Given the description of an element on the screen output the (x, y) to click on. 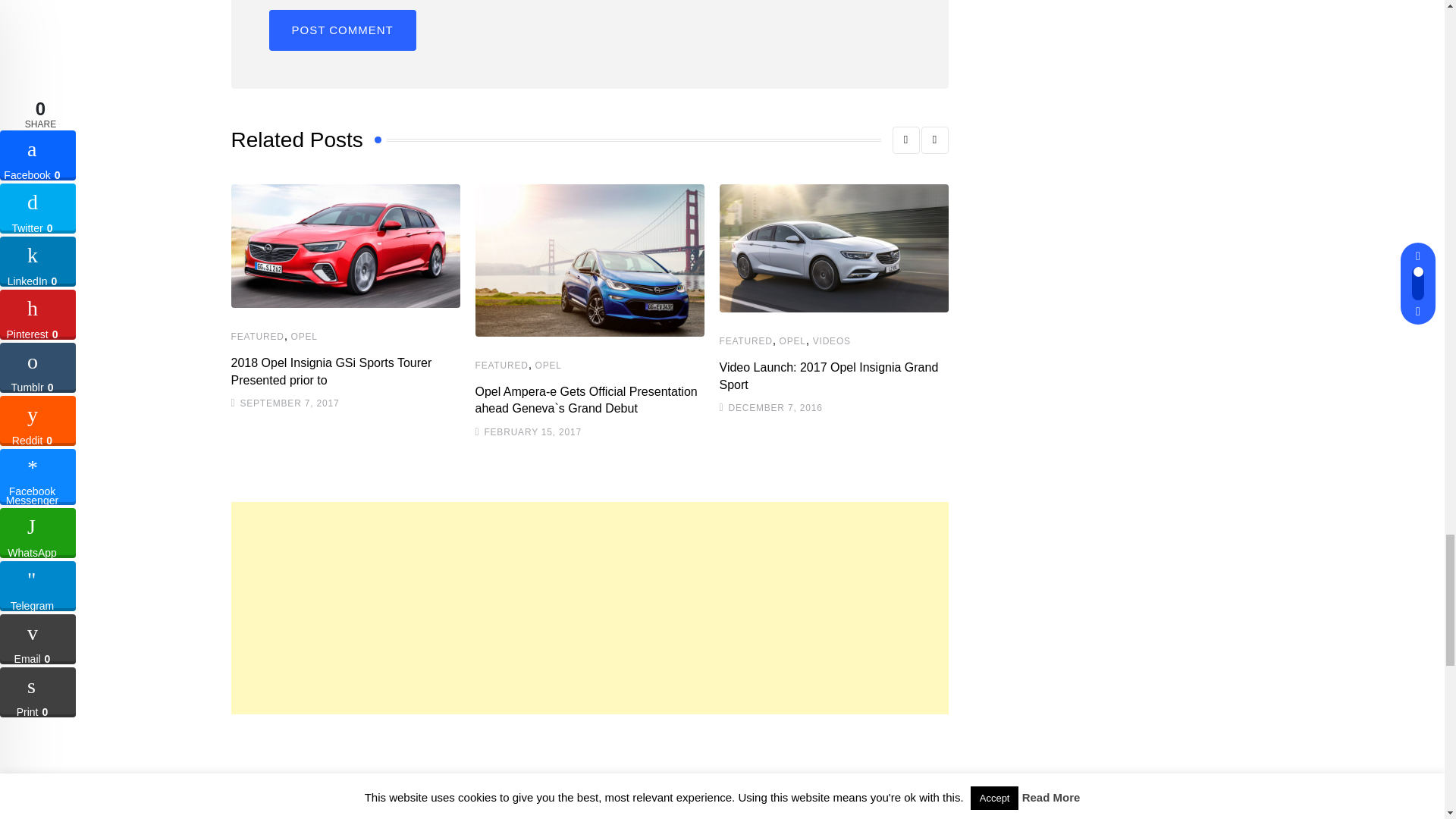
Post Comment (340, 29)
